Given the description of an element on the screen output the (x, y) to click on. 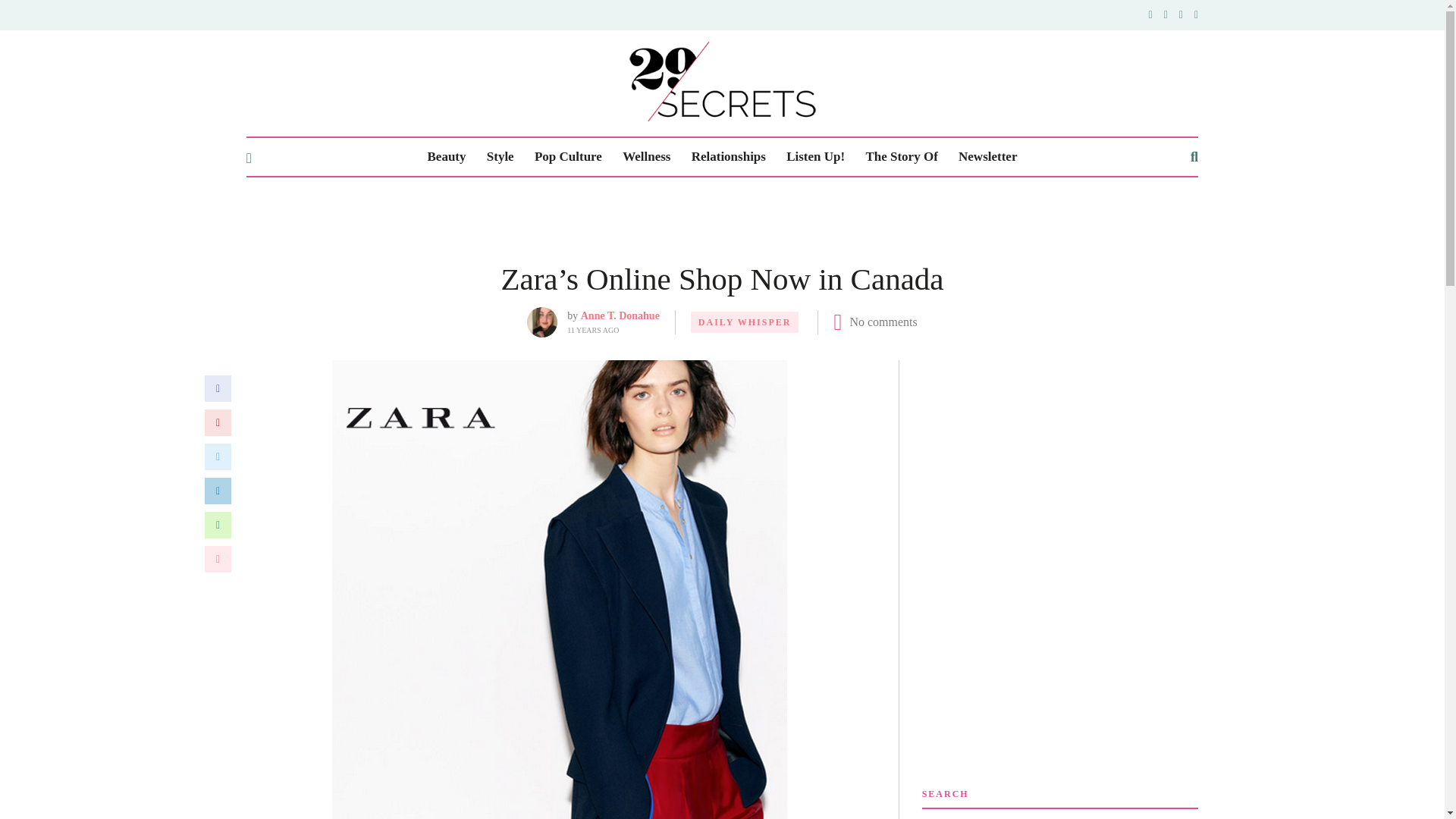
Anne T. Donahue (619, 315)
The Story Of (900, 157)
DAILY WHISPER (744, 322)
29Secrets (721, 81)
Newsletter (987, 157)
No comments (882, 321)
Pop Culture (568, 157)
Listen Up! (815, 157)
Relationships (728, 157)
Wellness (646, 157)
